Given the description of an element on the screen output the (x, y) to click on. 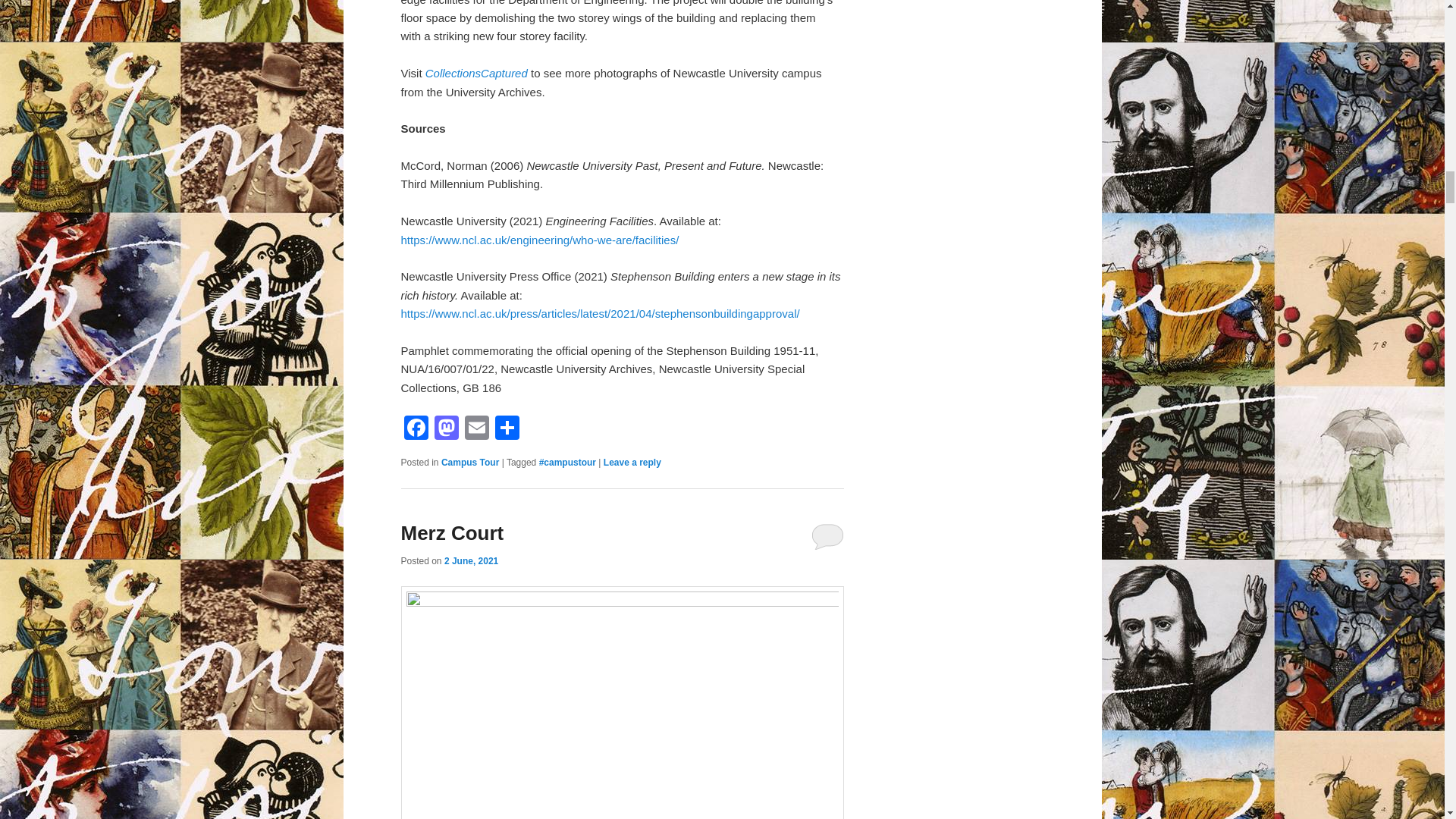
Mastodon (445, 429)
Facebook (415, 429)
CollectionsCaptured (476, 72)
Campus Tour (470, 462)
Email (476, 429)
Facebook (415, 429)
4:19 pm (470, 561)
Email (476, 429)
Mastodon (445, 429)
